Given the description of an element on the screen output the (x, y) to click on. 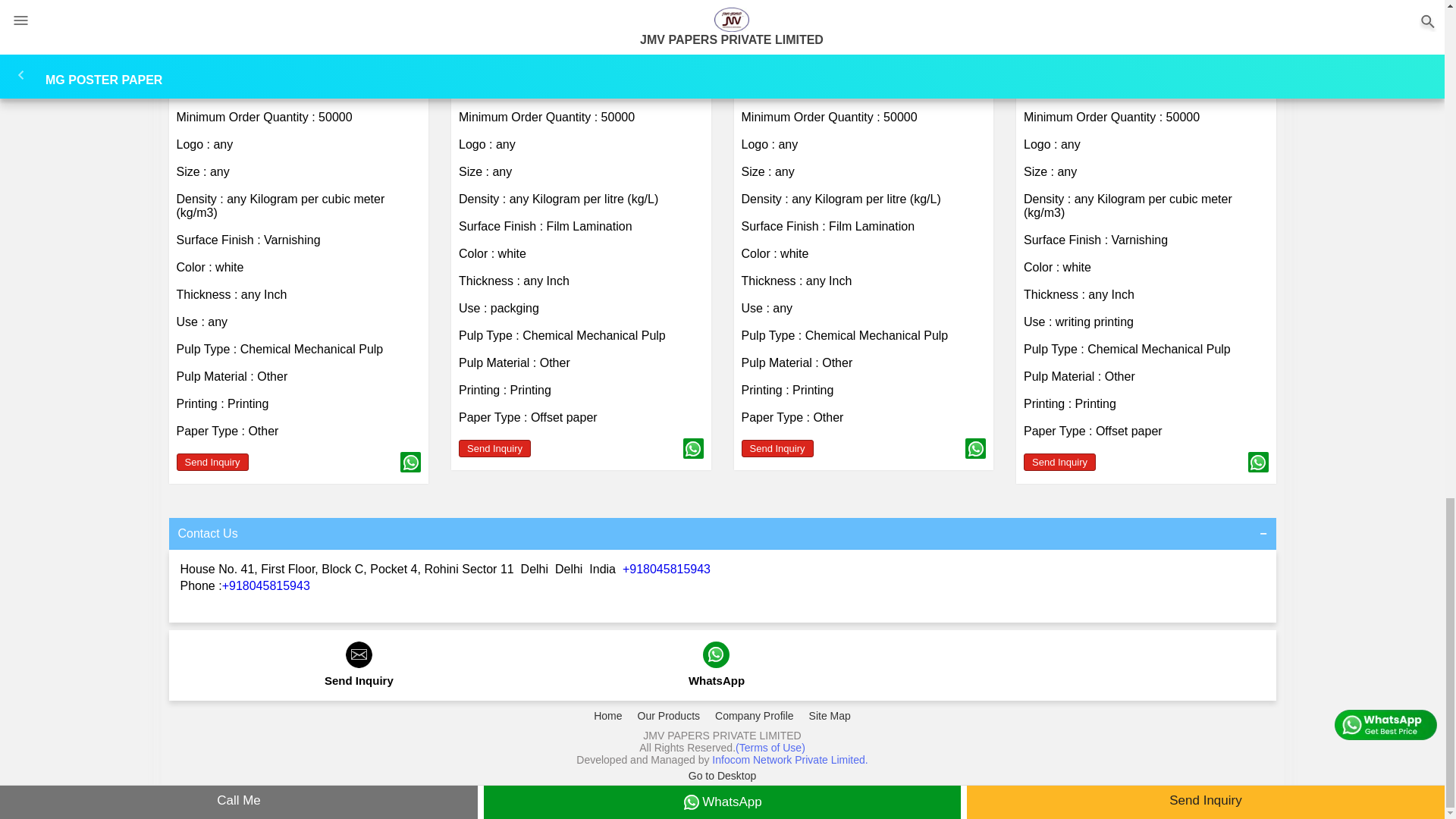
Send Inquiry (494, 448)
Send Inquiry (211, 461)
White Maplitho Paper Roll (1098, 68)
Send Inquiry (777, 448)
Send Inquiry (1059, 461)
C1S White Paper (789, 68)
Matte Paper (210, 68)
MG Poster Paper Roll (520, 68)
